Given the description of an element on the screen output the (x, y) to click on. 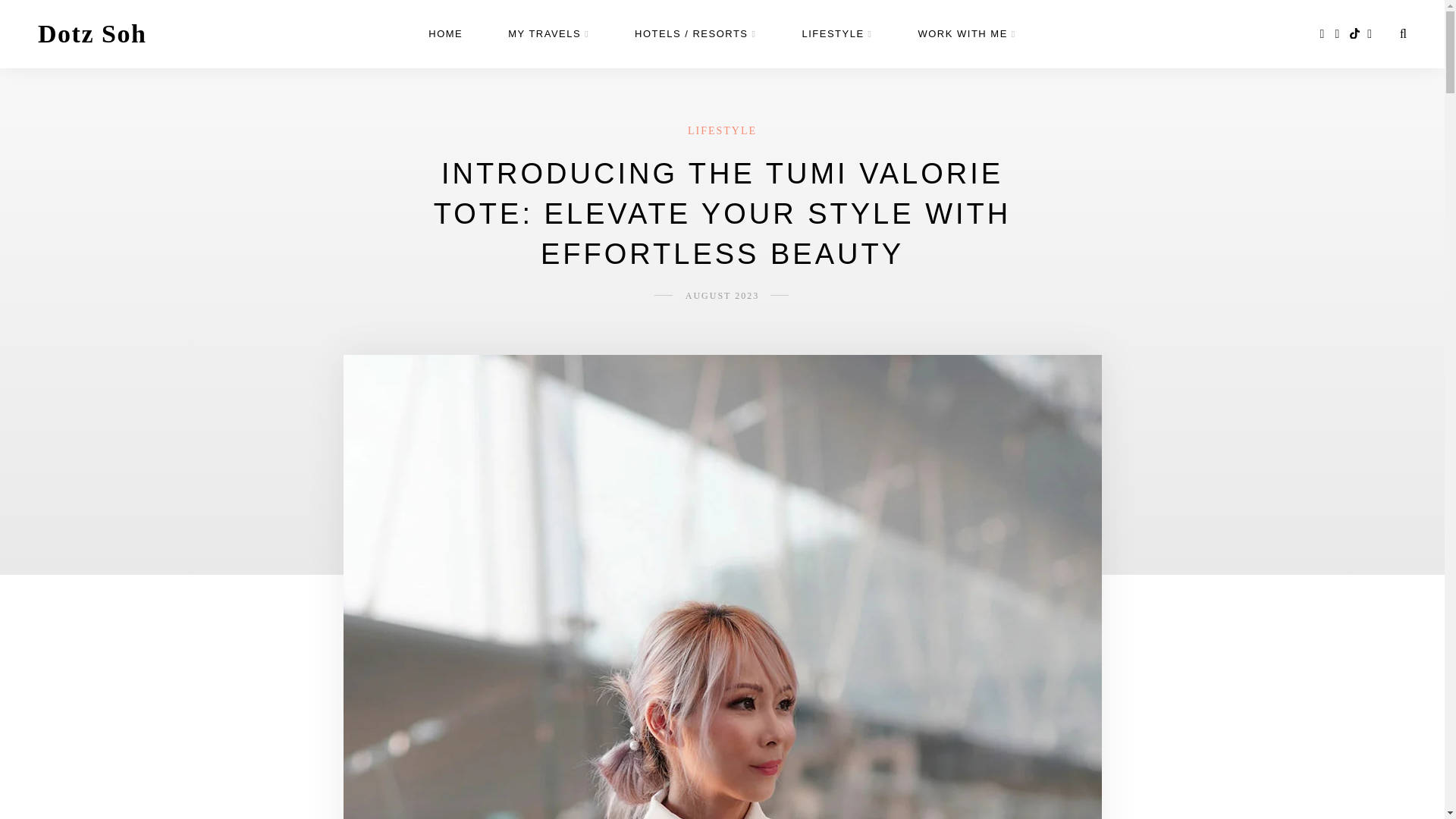
MY TRAVELS (548, 34)
Dotz Soh (92, 33)
LIFESTYLE (837, 34)
